Given the description of an element on the screen output the (x, y) to click on. 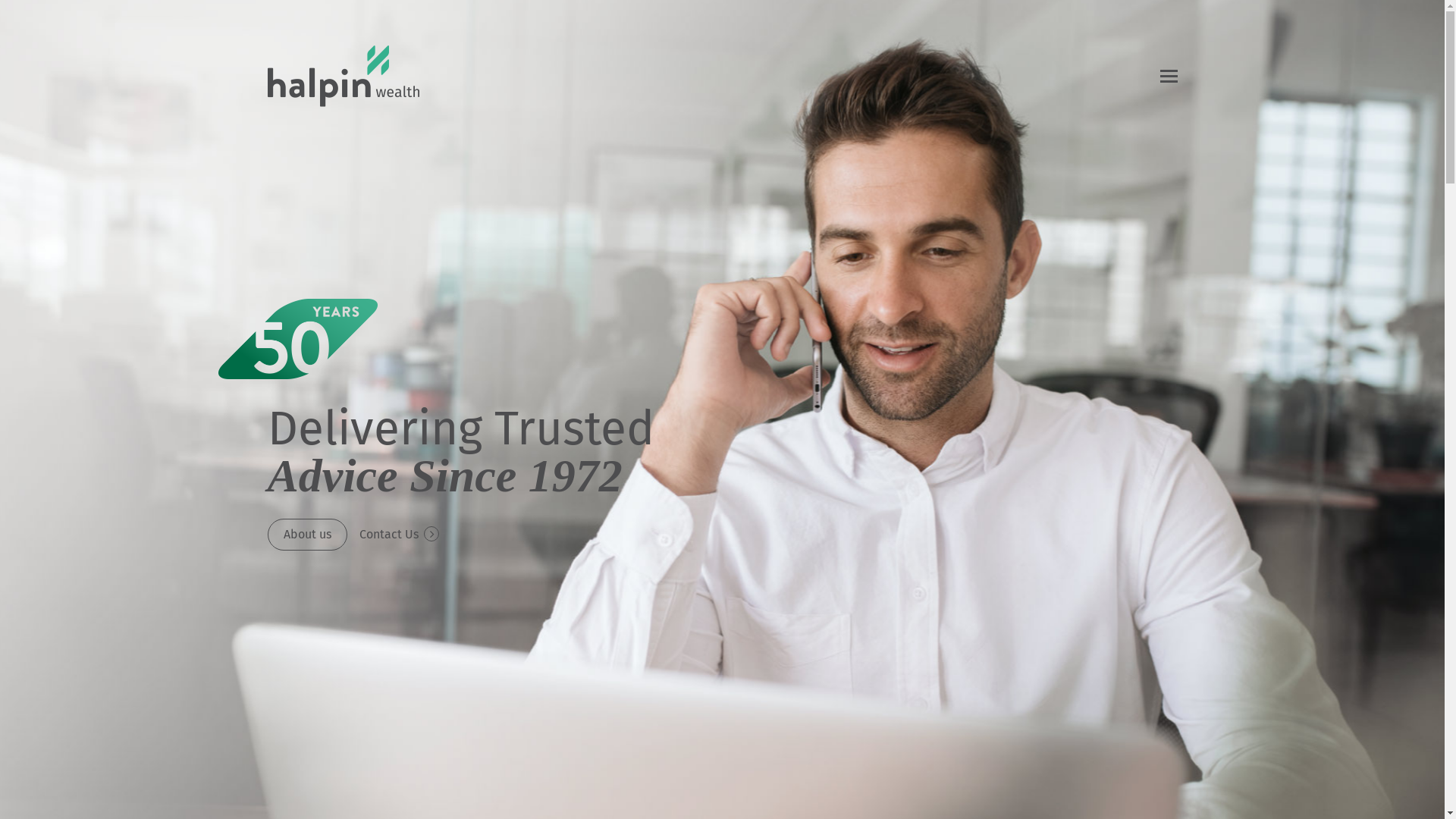
Contact Us Element type: text (399, 534)
About us Element type: text (306, 534)
